Given the description of an element on the screen output the (x, y) to click on. 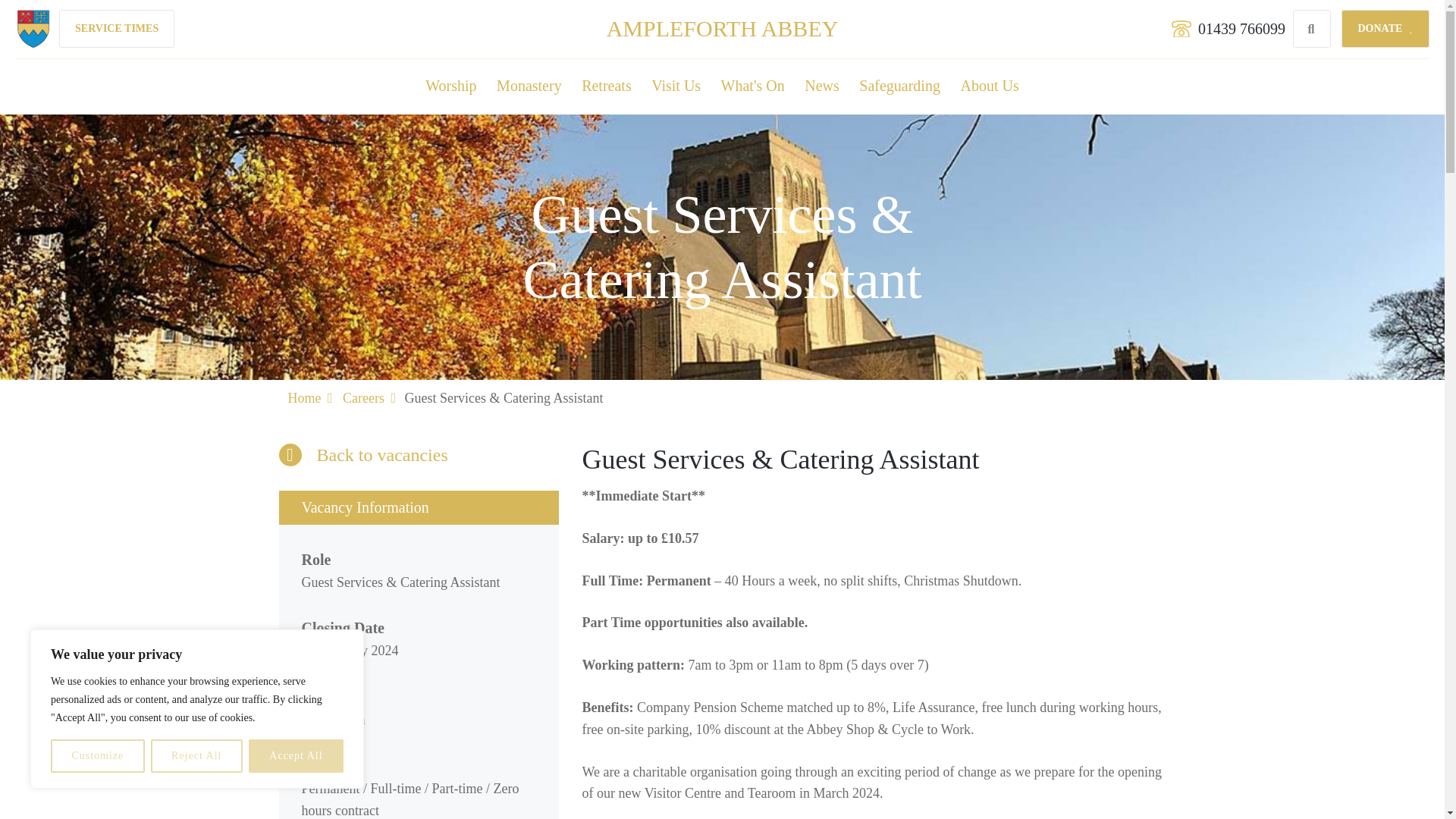
Reject All (197, 756)
Accept All (295, 756)
Customize (97, 756)
Enter the terms you wish to search for. (1305, 29)
Donate (1384, 28)
Search (1311, 29)
Home (722, 27)
